Given the description of an element on the screen output the (x, y) to click on. 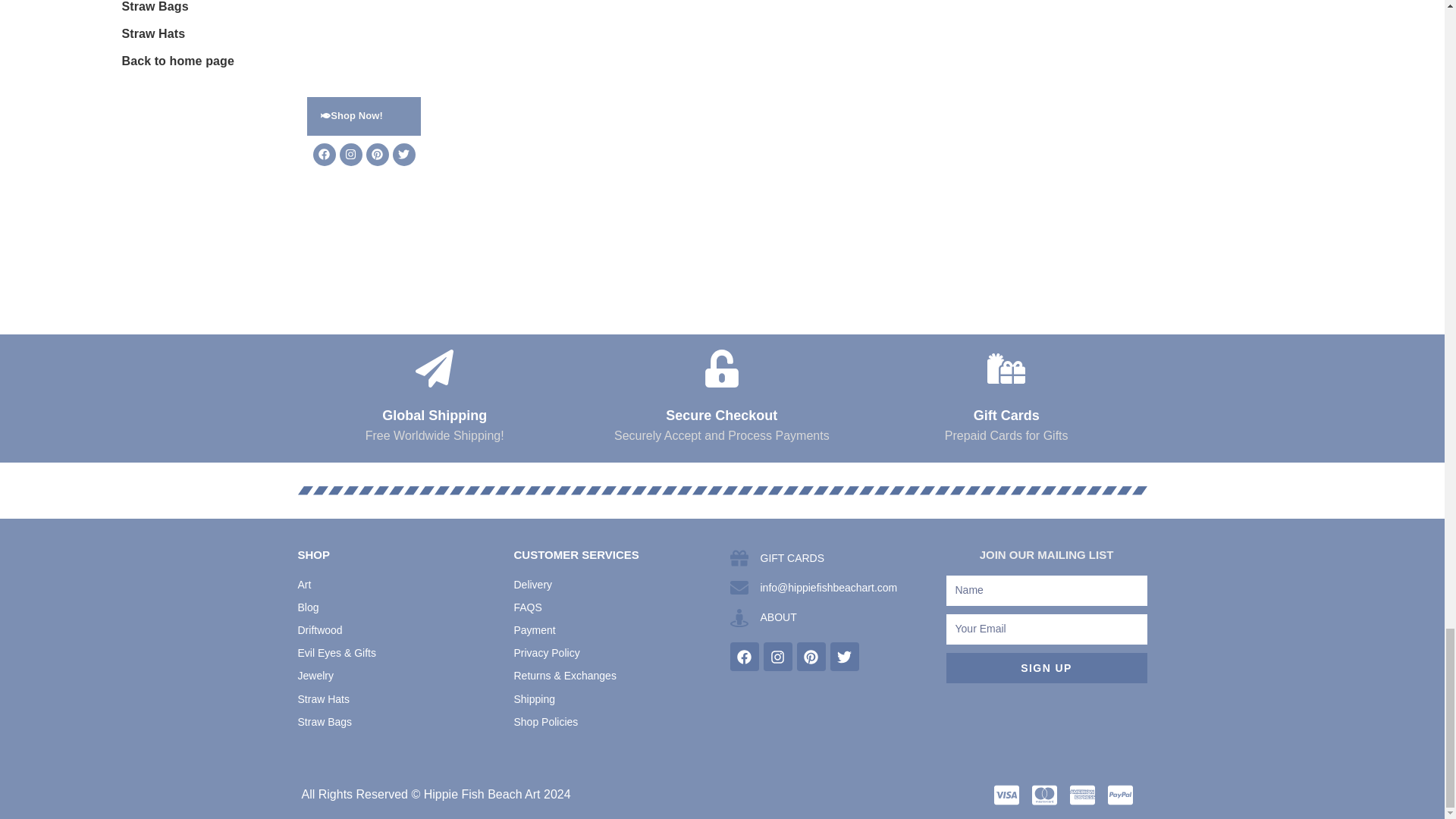
Straw Hats (152, 32)
Straw Bags (153, 6)
Back to home page (176, 60)
